Given the description of an element on the screen output the (x, y) to click on. 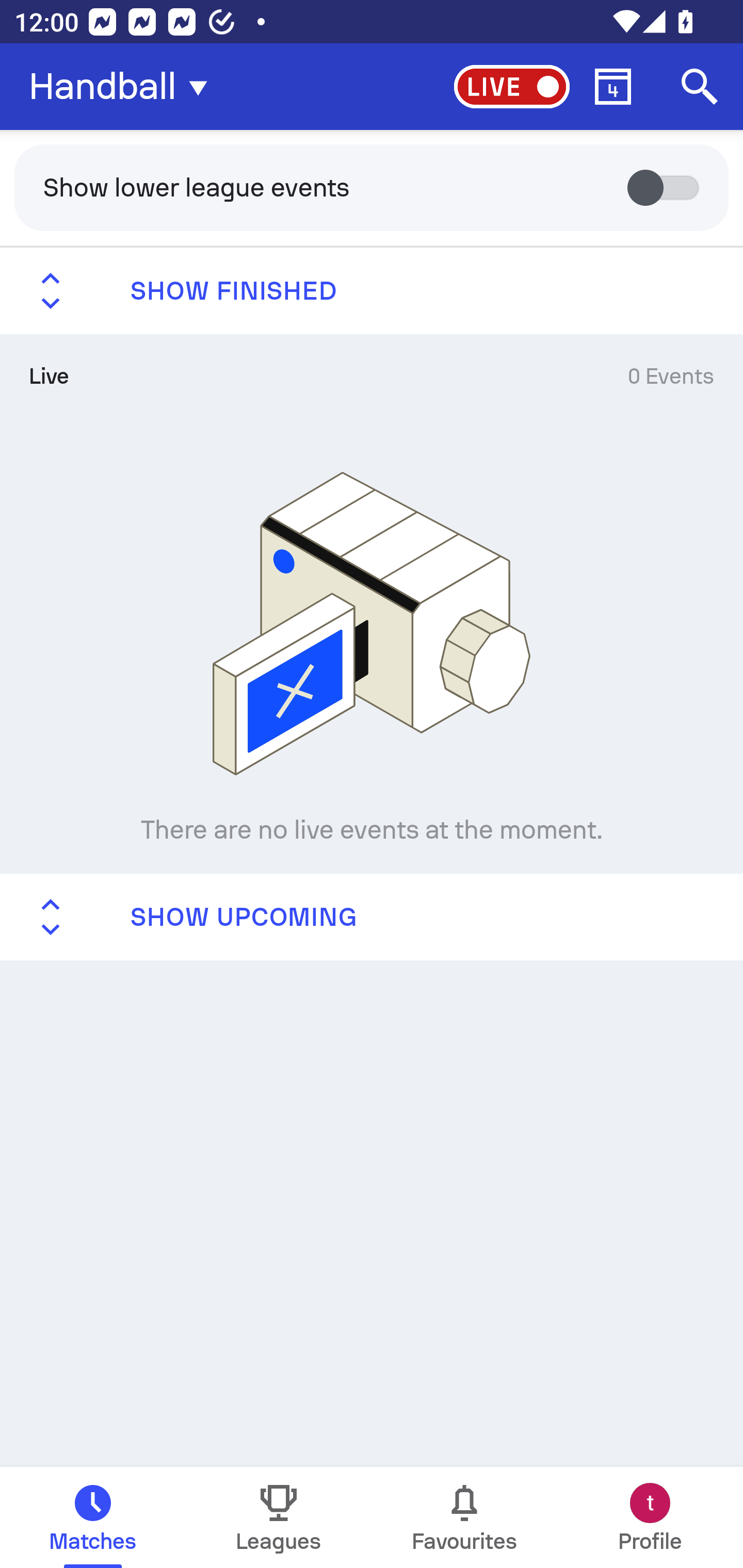
Handball (124, 86)
Calendar (612, 86)
Search (699, 86)
Show lower league events (371, 187)
SHOW FINISHED (371, 290)
SHOW UPCOMING (371, 916)
Leagues (278, 1517)
Favourites (464, 1517)
Profile (650, 1517)
